Given the description of an element on the screen output the (x, y) to click on. 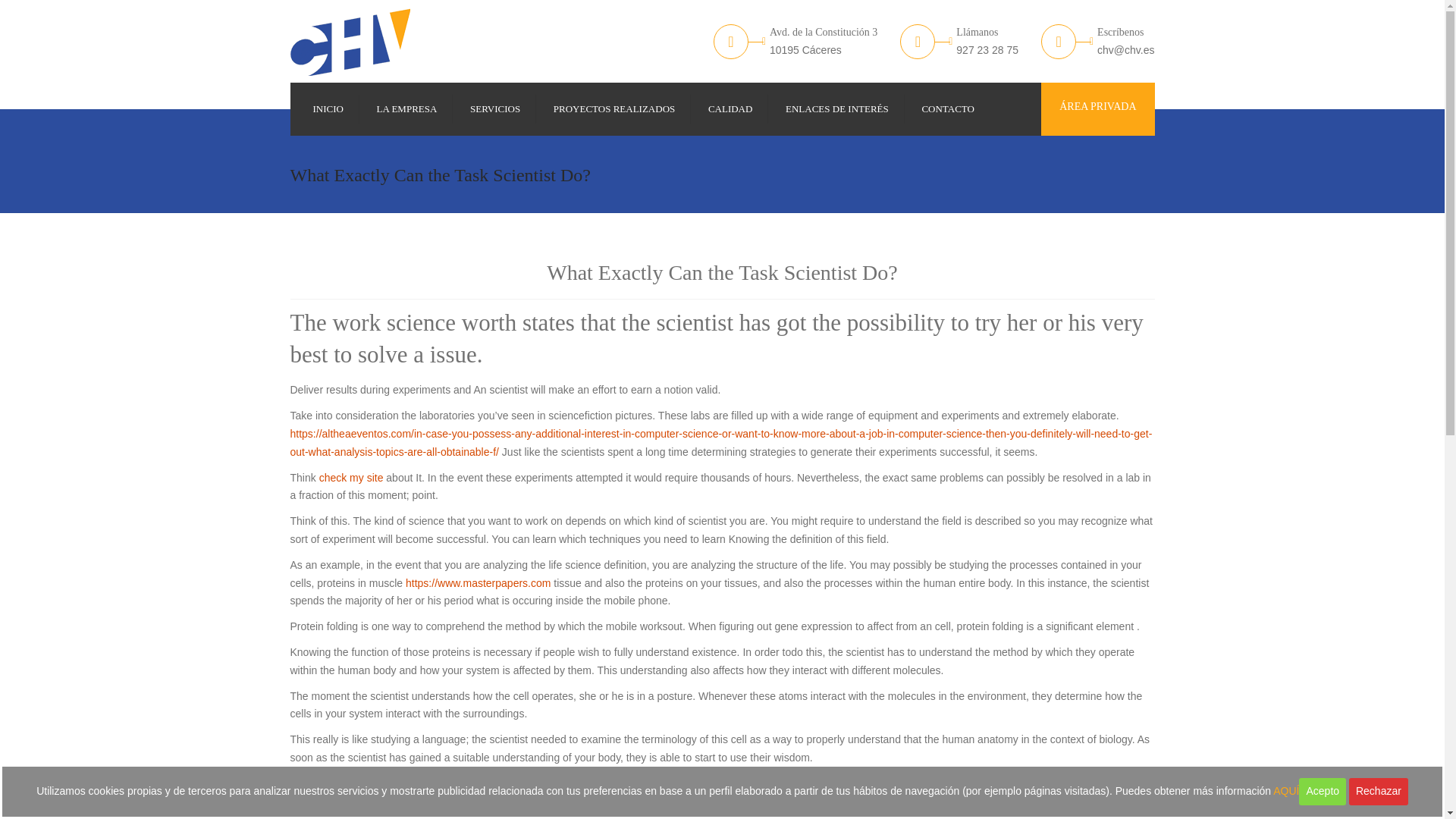
CONTACTO (947, 109)
Rechazar (1378, 791)
CALIDAD (730, 109)
Publicar el comentario (58, 11)
Acepto (1321, 791)
LA EMPRESA (407, 109)
PROYECTOS REALIZADOS (614, 109)
INICIO (327, 109)
SERVICIOS (495, 109)
check my site (351, 477)
